Given the description of an element on the screen output the (x, y) to click on. 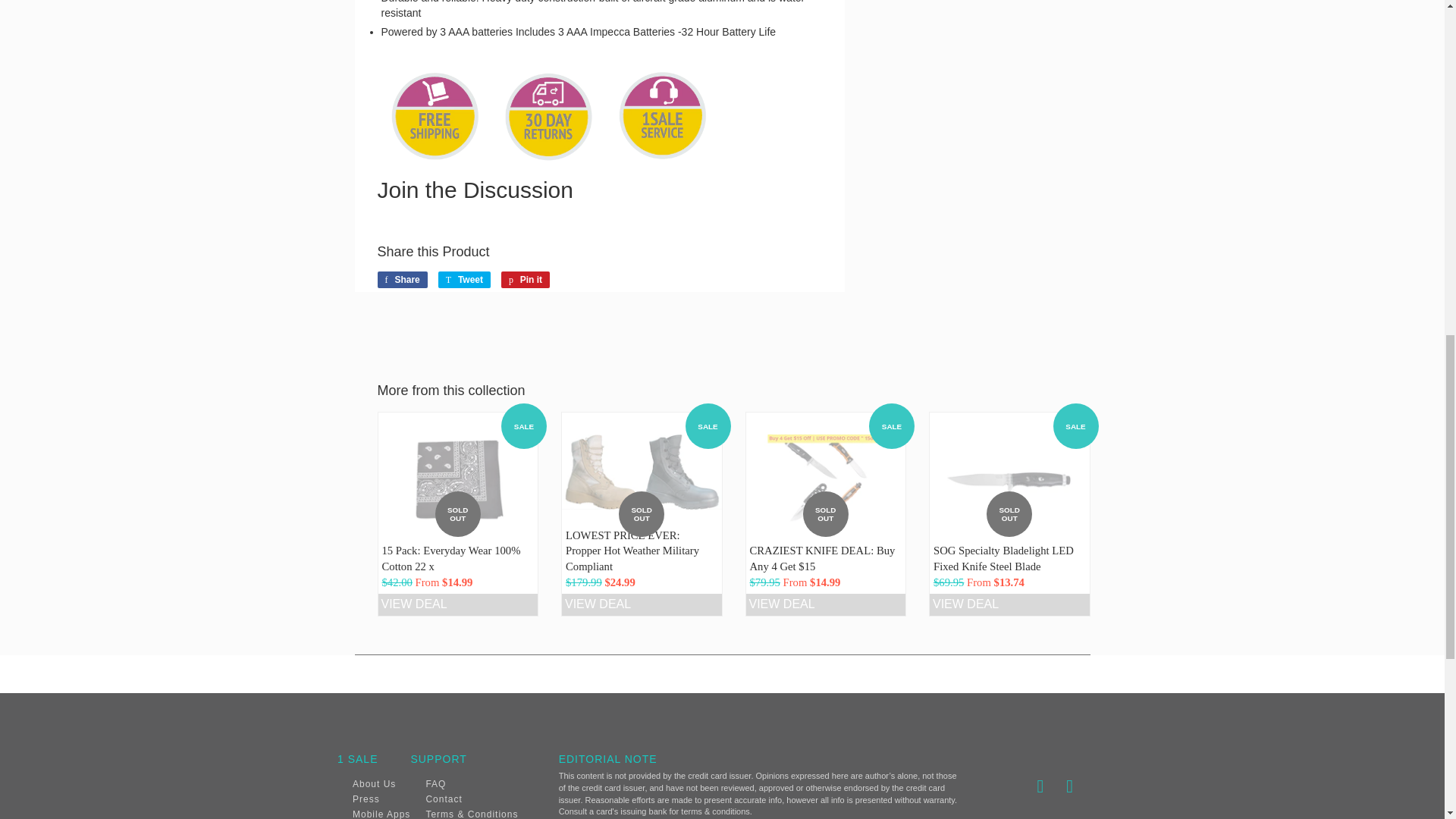
Advertisement (978, 80)
Tweet on Twitter (464, 279)
Share on Facebook (402, 279)
Pin on Pinterest (525, 279)
